Given the description of an element on the screen output the (x, y) to click on. 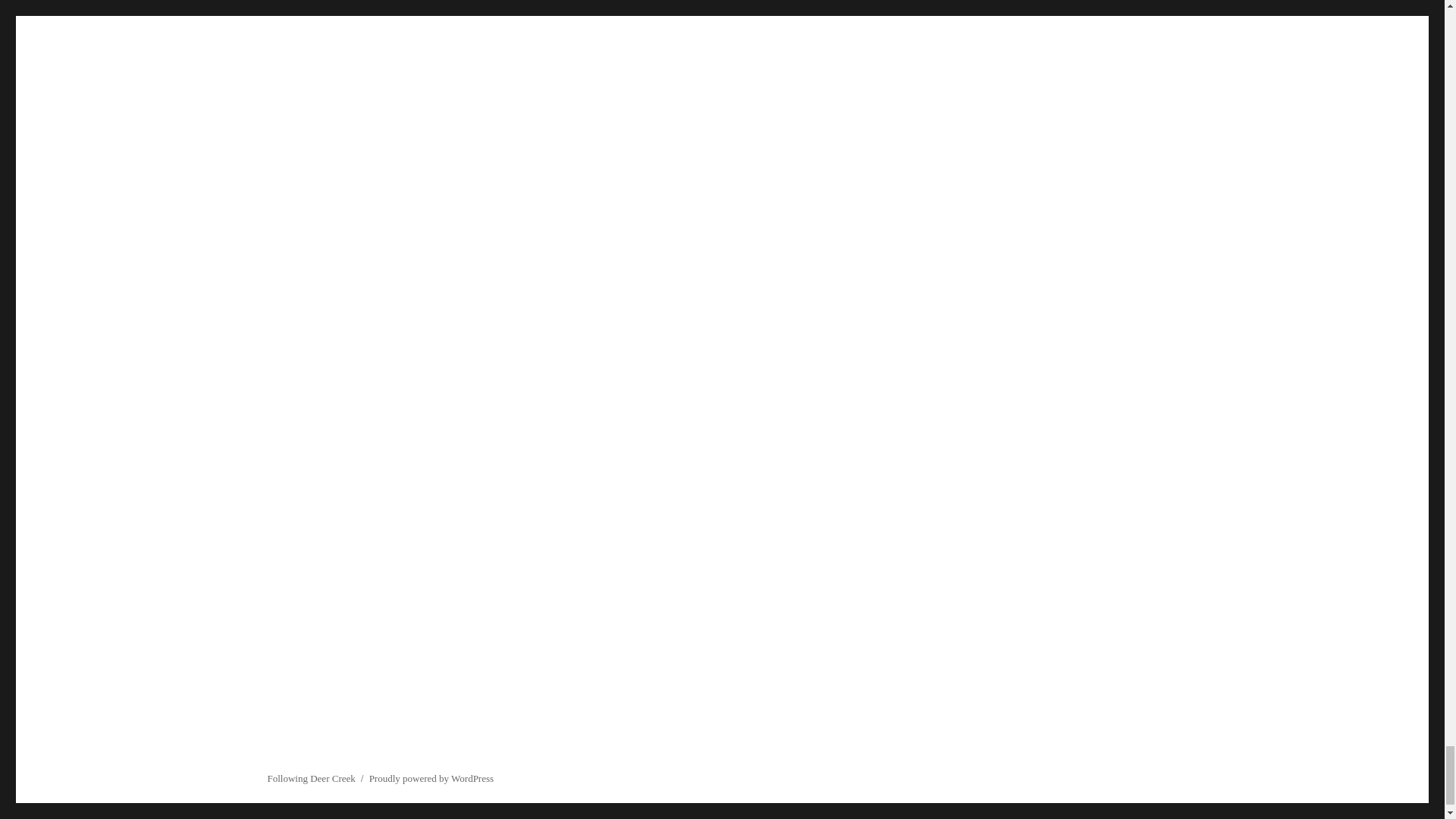
Mule Deer Research (676, 140)
